Given the description of an element on the screen output the (x, y) to click on. 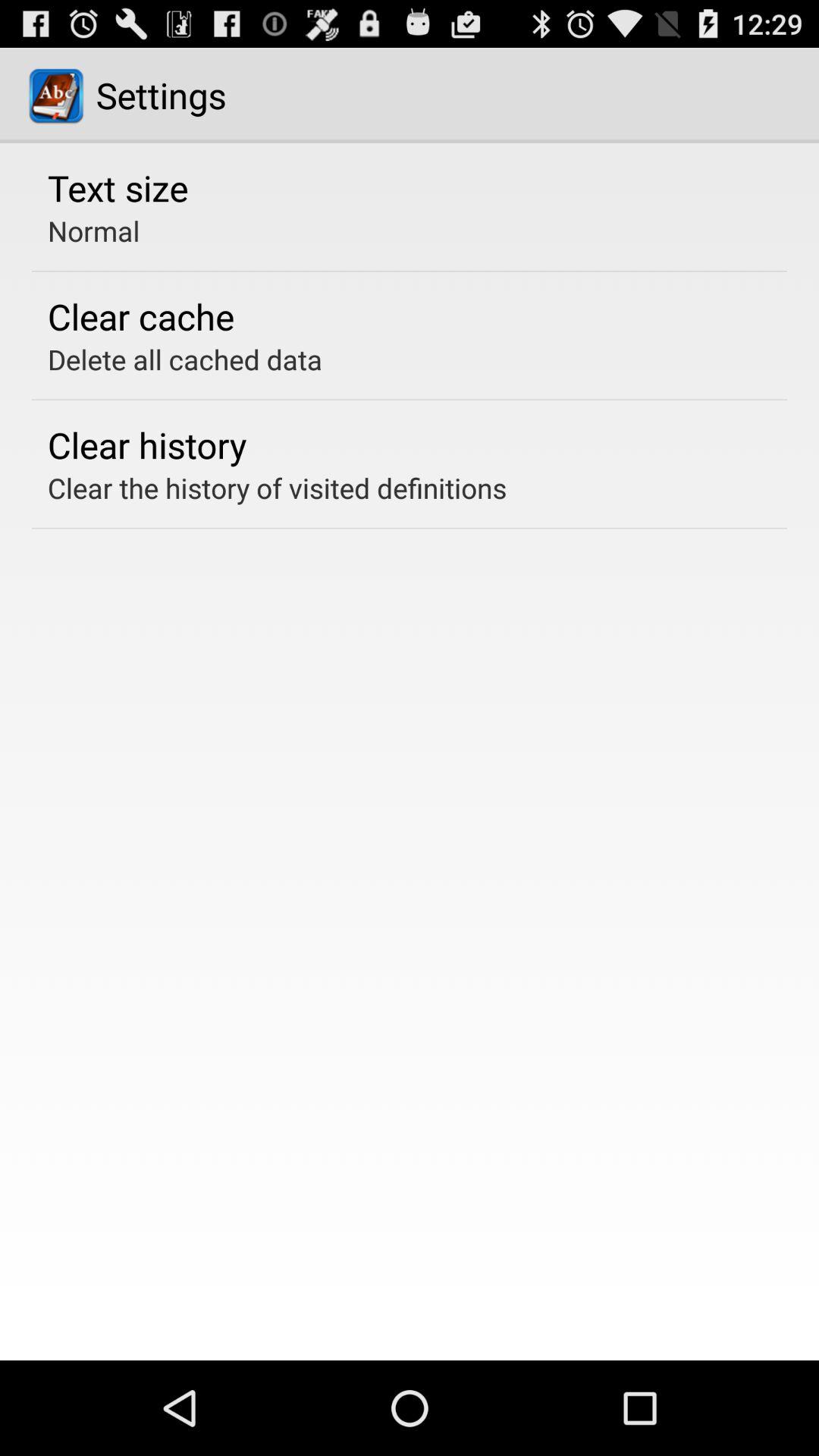
turn off delete all cached icon (184, 359)
